Given the description of an element on the screen output the (x, y) to click on. 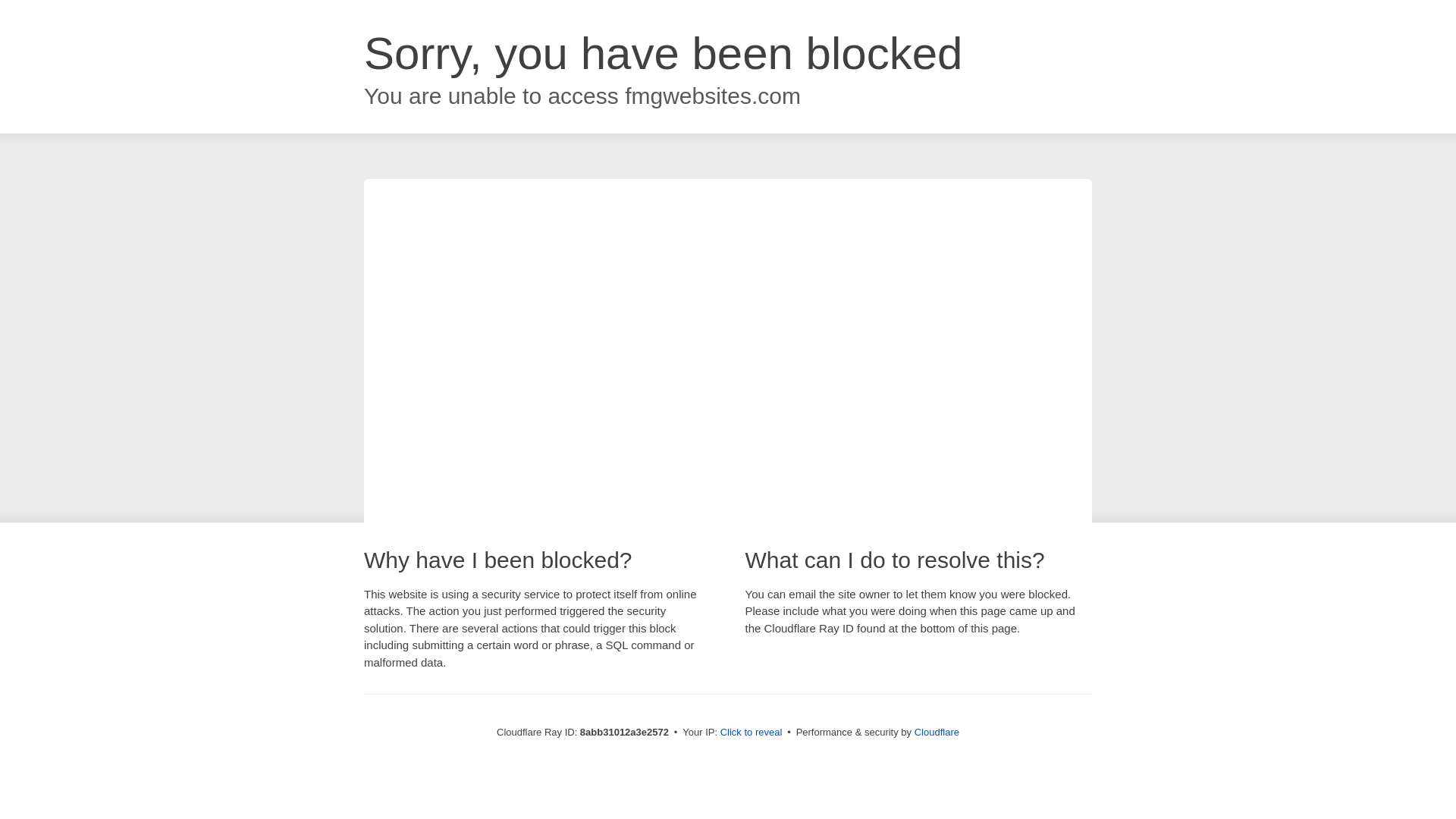
Cloudflare (936, 731)
Click to reveal (751, 732)
